Given the description of an element on the screen output the (x, y) to click on. 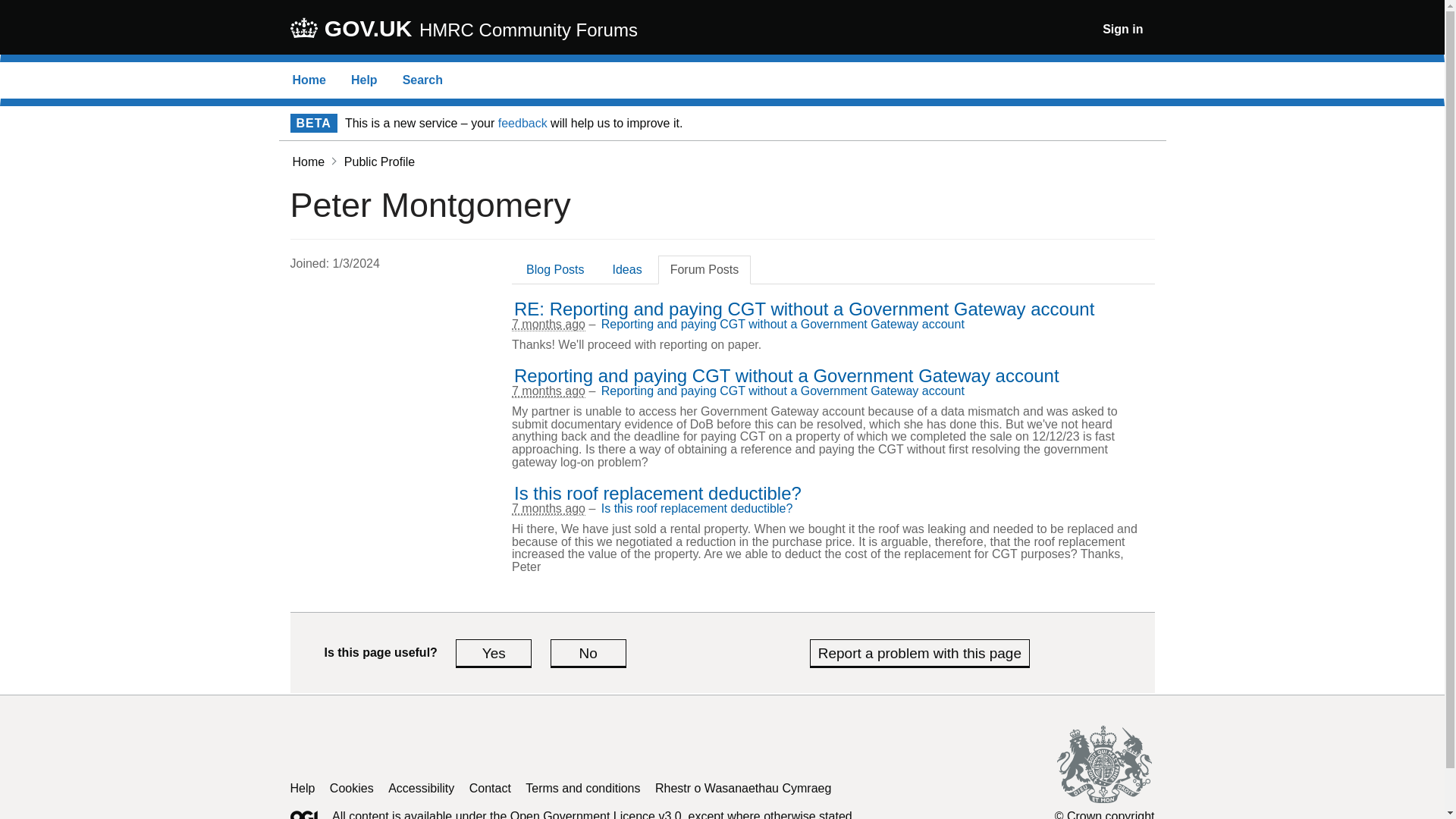
Search (422, 79)
Open Government Licence v3.0 (596, 814)
Home (308, 161)
Accessibility (421, 788)
HMRC Community Forums (528, 29)
Terms and conditions (582, 788)
Contact (489, 788)
Is this roof replacement deductible? (493, 652)
